Given the description of an element on the screen output the (x, y) to click on. 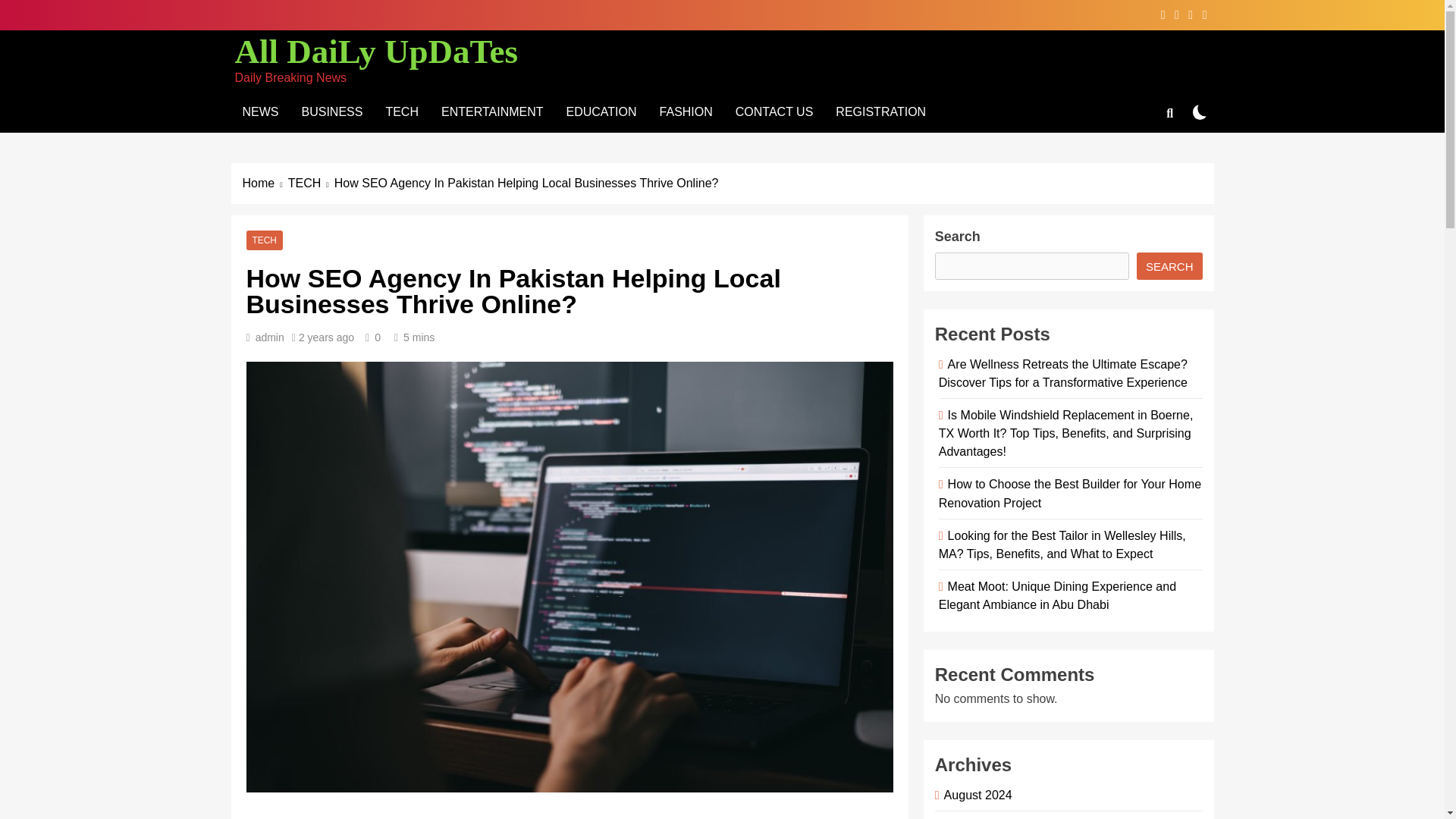
NEWS (259, 111)
BUSINESS (331, 111)
admin (269, 337)
FASHION (685, 111)
All DaiLy UpDaTes (376, 51)
on (1199, 111)
TECH (263, 240)
ENTERTAINMENT (491, 111)
CONTACT US (774, 111)
TECH (311, 183)
Home (265, 183)
2 years ago (325, 337)
TECH (401, 111)
REGISTRATION (880, 111)
EDUCATION (600, 111)
